Given the description of an element on the screen output the (x, y) to click on. 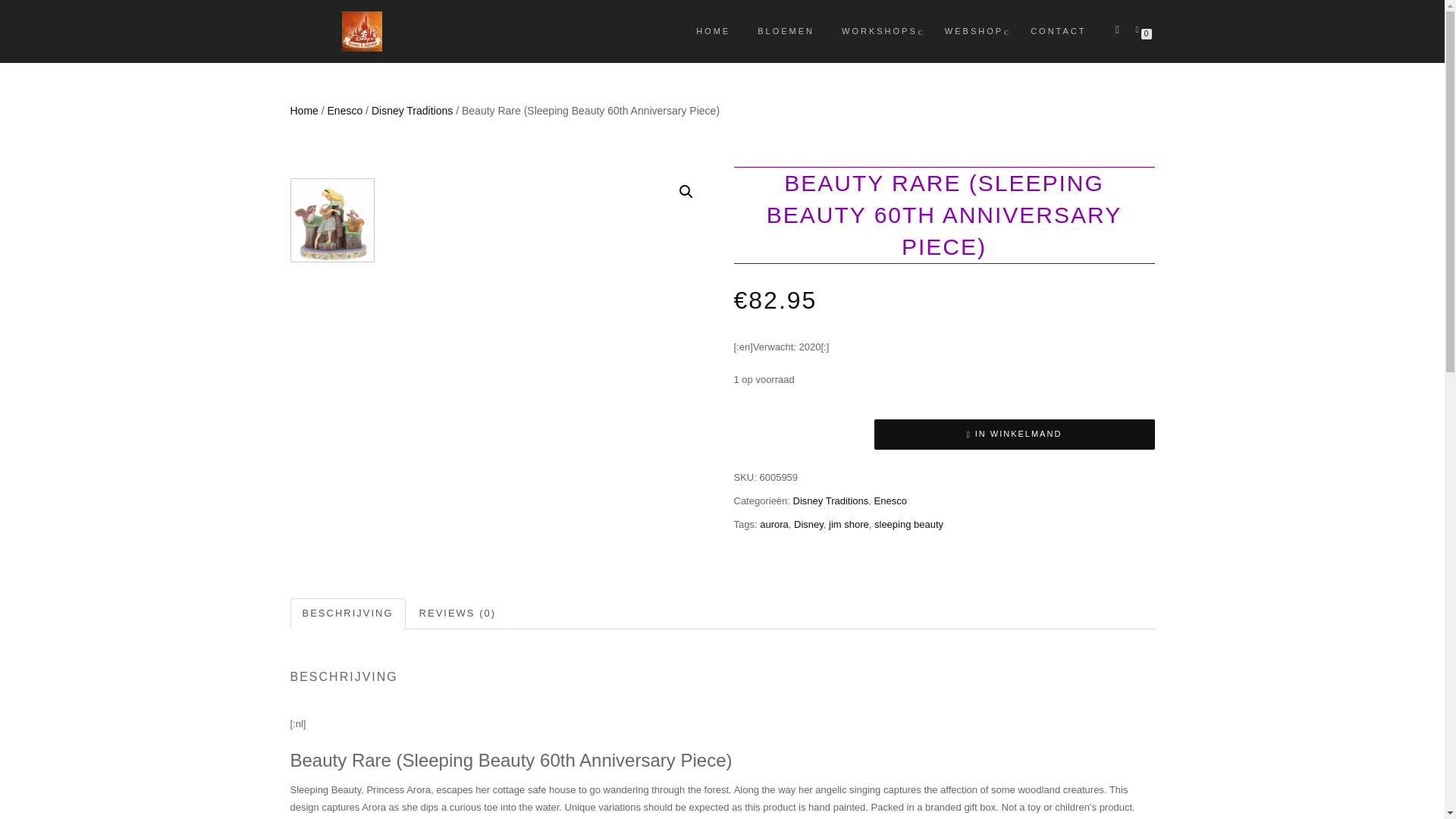
IN WINKELMAND (1013, 434)
Enesco (891, 500)
BESCHRIJVING (346, 613)
Enesco (344, 110)
HOME (712, 30)
aurora (774, 523)
BLOEMEN (785, 30)
0 (1139, 28)
Disney Traditions (411, 110)
CONTACT (1058, 30)
WEBSHOP (973, 30)
WORKSHOPS (878, 30)
sleeping beauty (909, 523)
Home (303, 110)
Disney Traditions (831, 500)
